Given the description of an element on the screen output the (x, y) to click on. 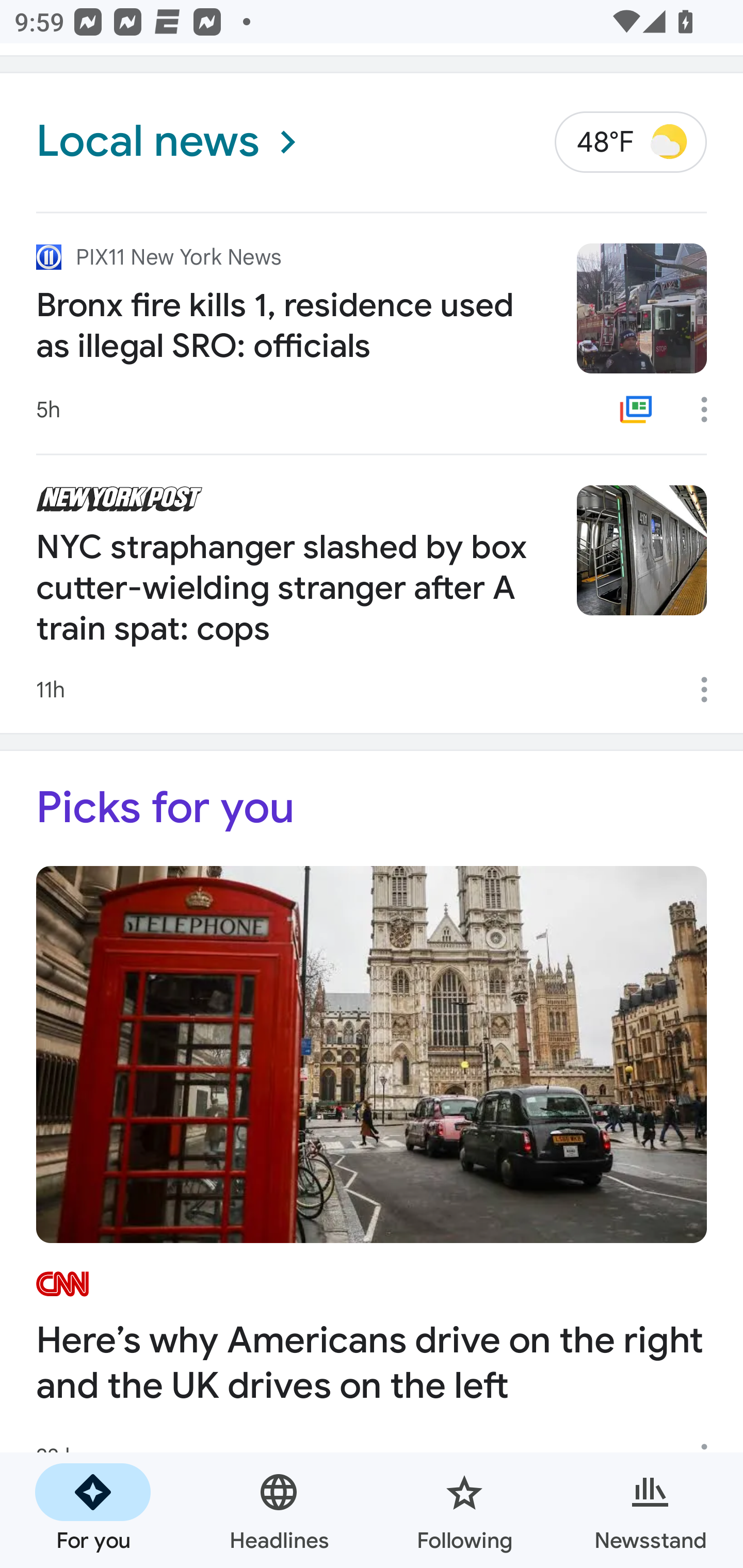
More options (711, 409)
More options (711, 689)
For you (92, 1509)
Headlines (278, 1509)
Following (464, 1509)
Newsstand (650, 1509)
